Given the description of an element on the screen output the (x, y) to click on. 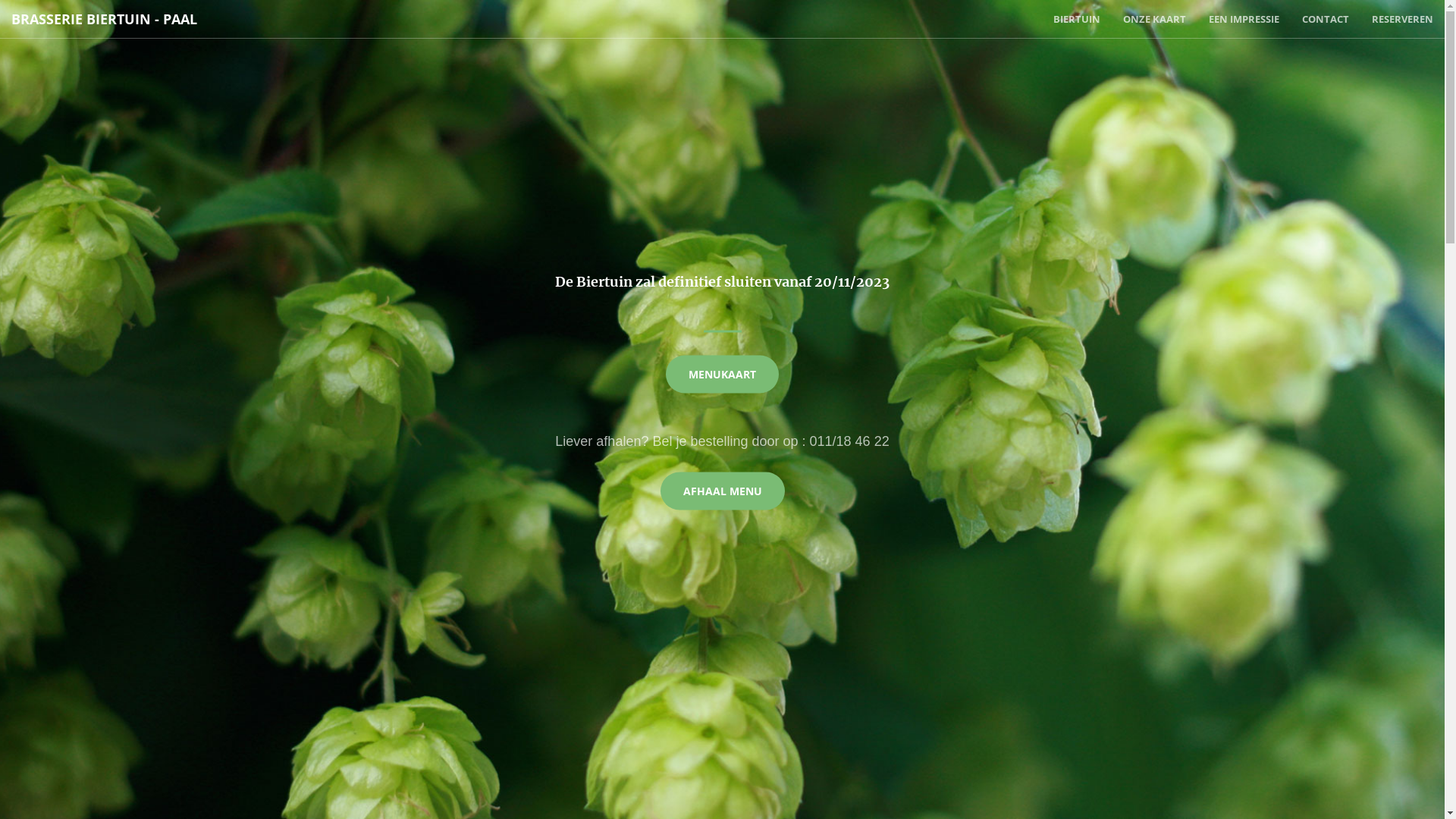
ONZE KAART Element type: text (1154, 18)
CONTACT Element type: text (1325, 18)
BIERTUIN Element type: text (1076, 18)
BRASSERIE BIERTUIN - PAAL Element type: text (104, 18)
EEN IMPRESSIE Element type: text (1243, 18)
AFHAAL MENU Element type: text (721, 490)
RESERVEREN Element type: text (1402, 18)
MENUKAART Element type: text (721, 373)
